Given the description of an element on the screen output the (x, y) to click on. 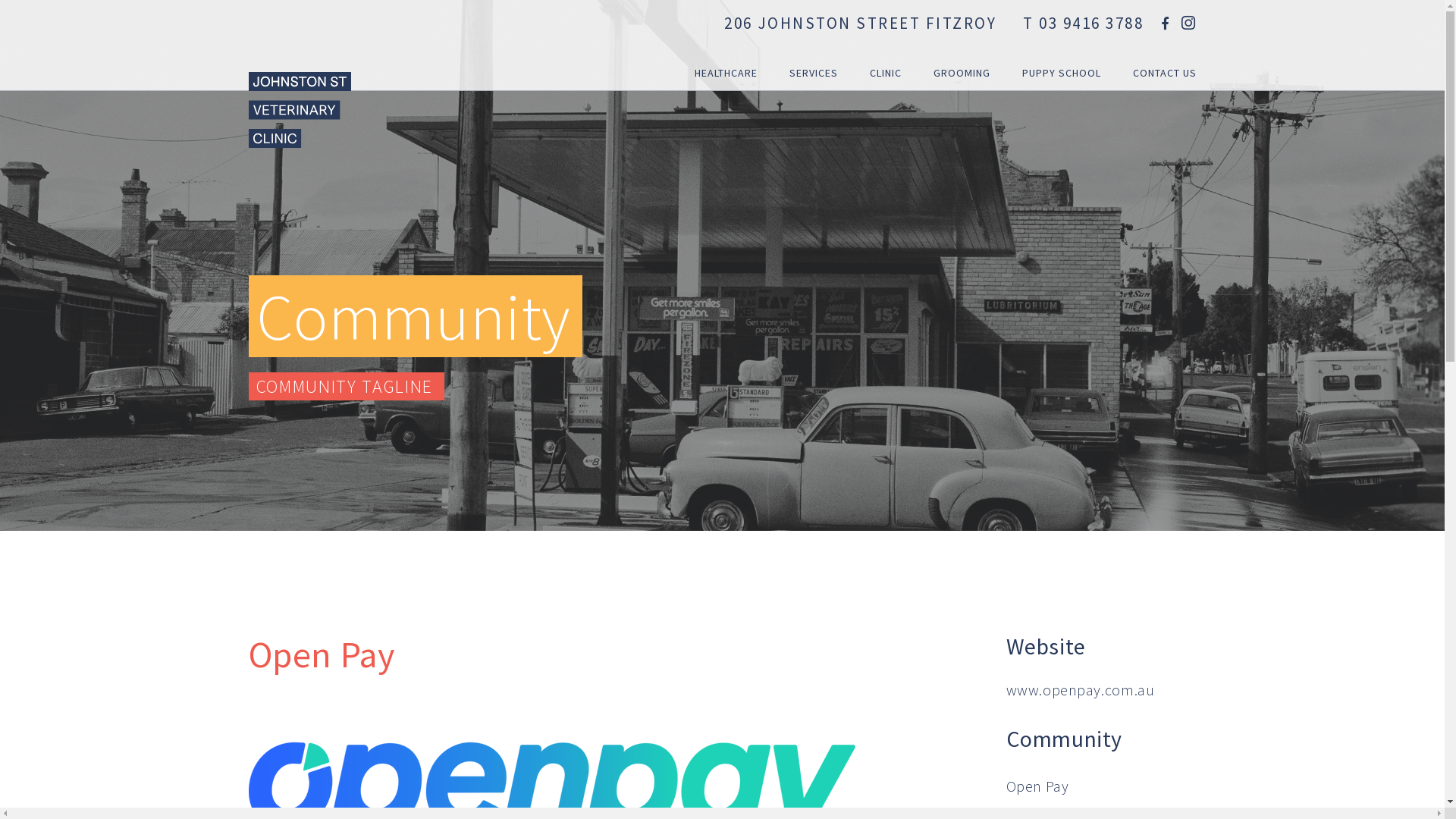
CLINIC Element type: text (884, 45)
Open Pay Element type: text (1036, 785)
206 JOHNSTON STREET FITZROY Element type: text (859, 22)
CONTACT US Element type: text (1156, 45)
SERVICES Element type: text (812, 45)
www.openpay.com.au Element type: text (1079, 689)
HEALTHCARE Element type: text (725, 45)
PUPPY SCHOOL Element type: text (1061, 45)
GROOMING Element type: text (960, 45)
T 03 9416 3788 Element type: text (1082, 22)
